Given the description of an element on the screen output the (x, y) to click on. 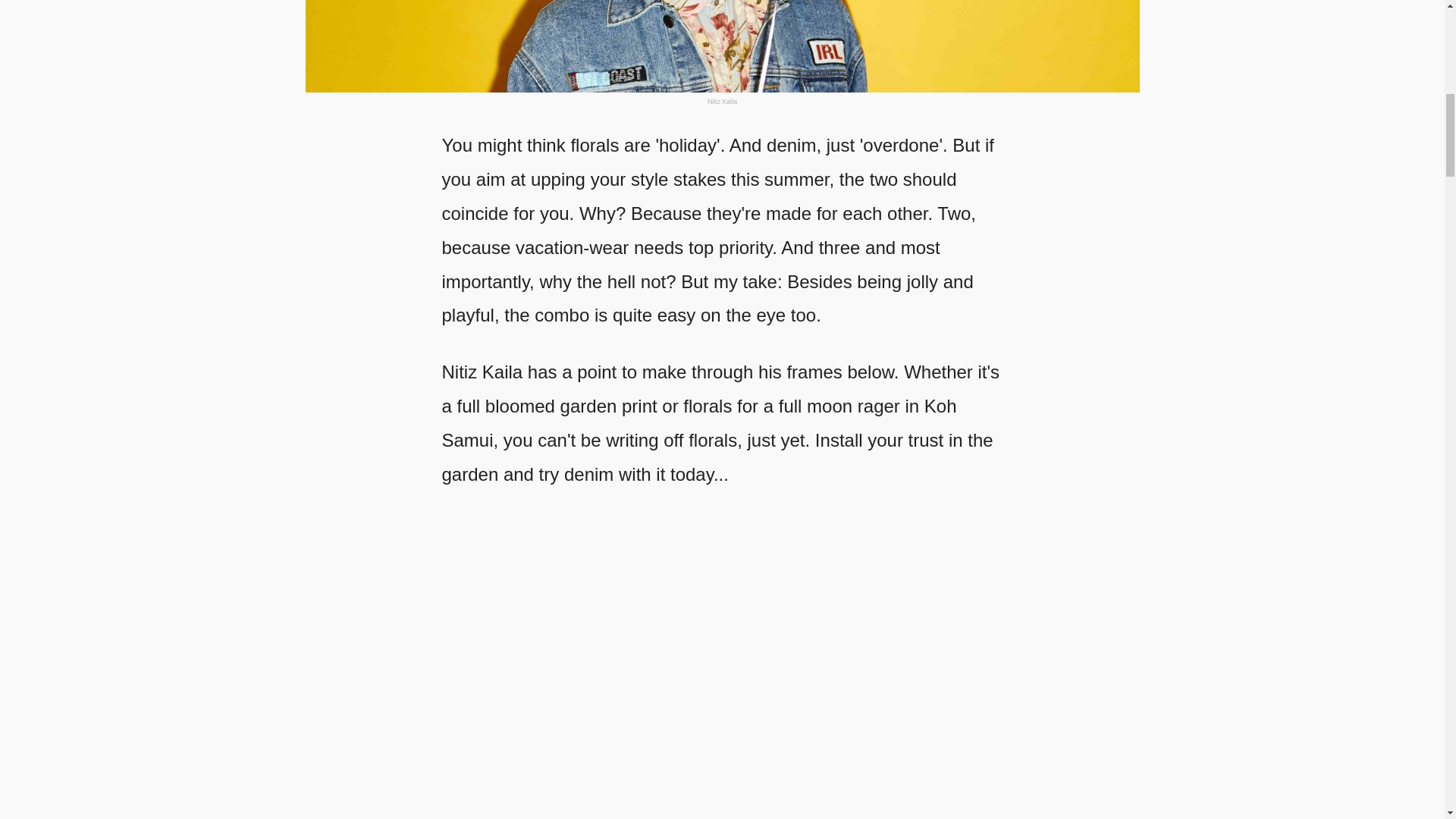
header (721, 46)
